Given the description of an element on the screen output the (x, y) to click on. 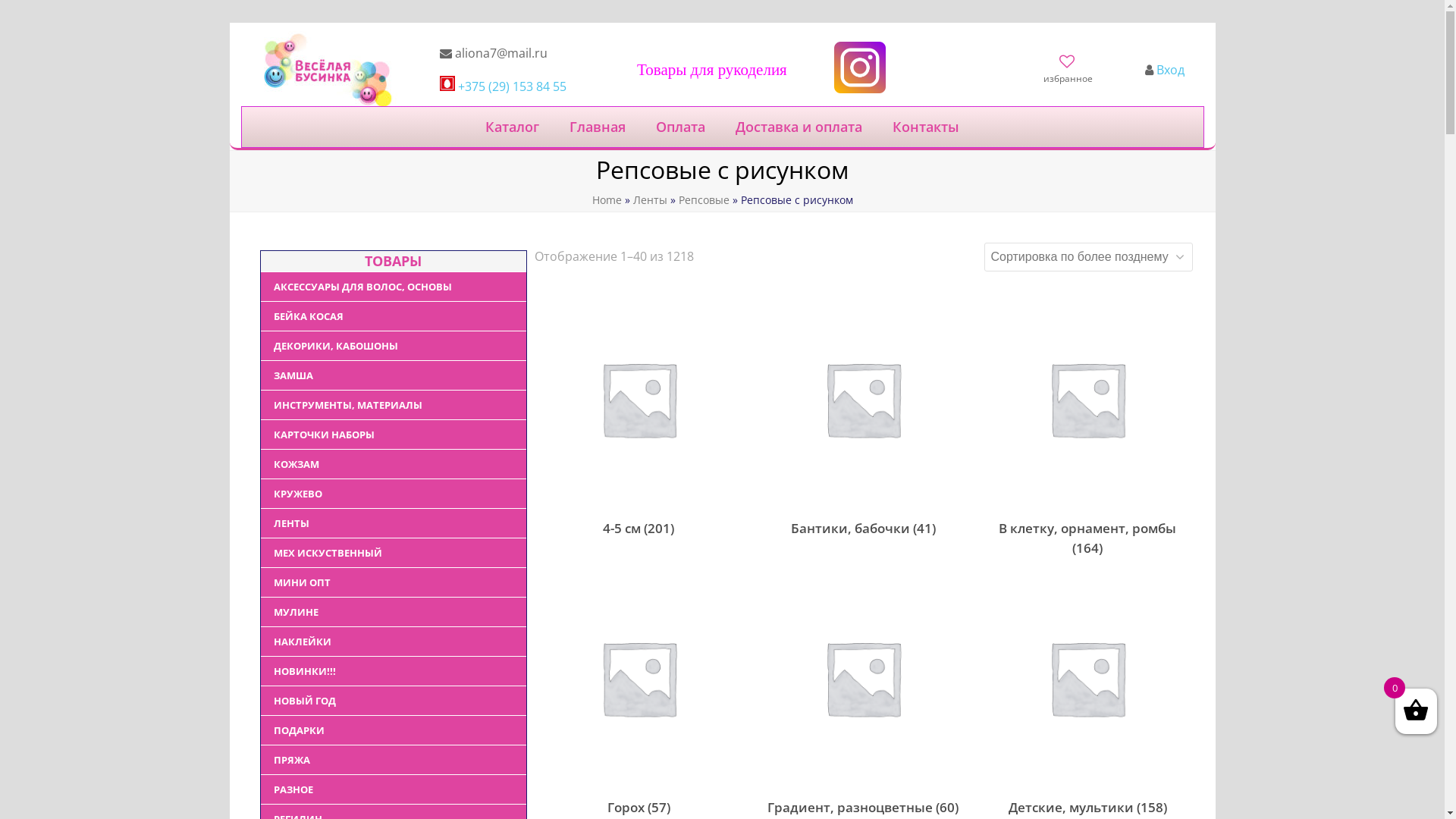
  Element type: text (1067, 62)
Home Element type: text (606, 199)
+375 (29) 153 84 55 Element type: text (512, 86)
